Given the description of an element on the screen output the (x, y) to click on. 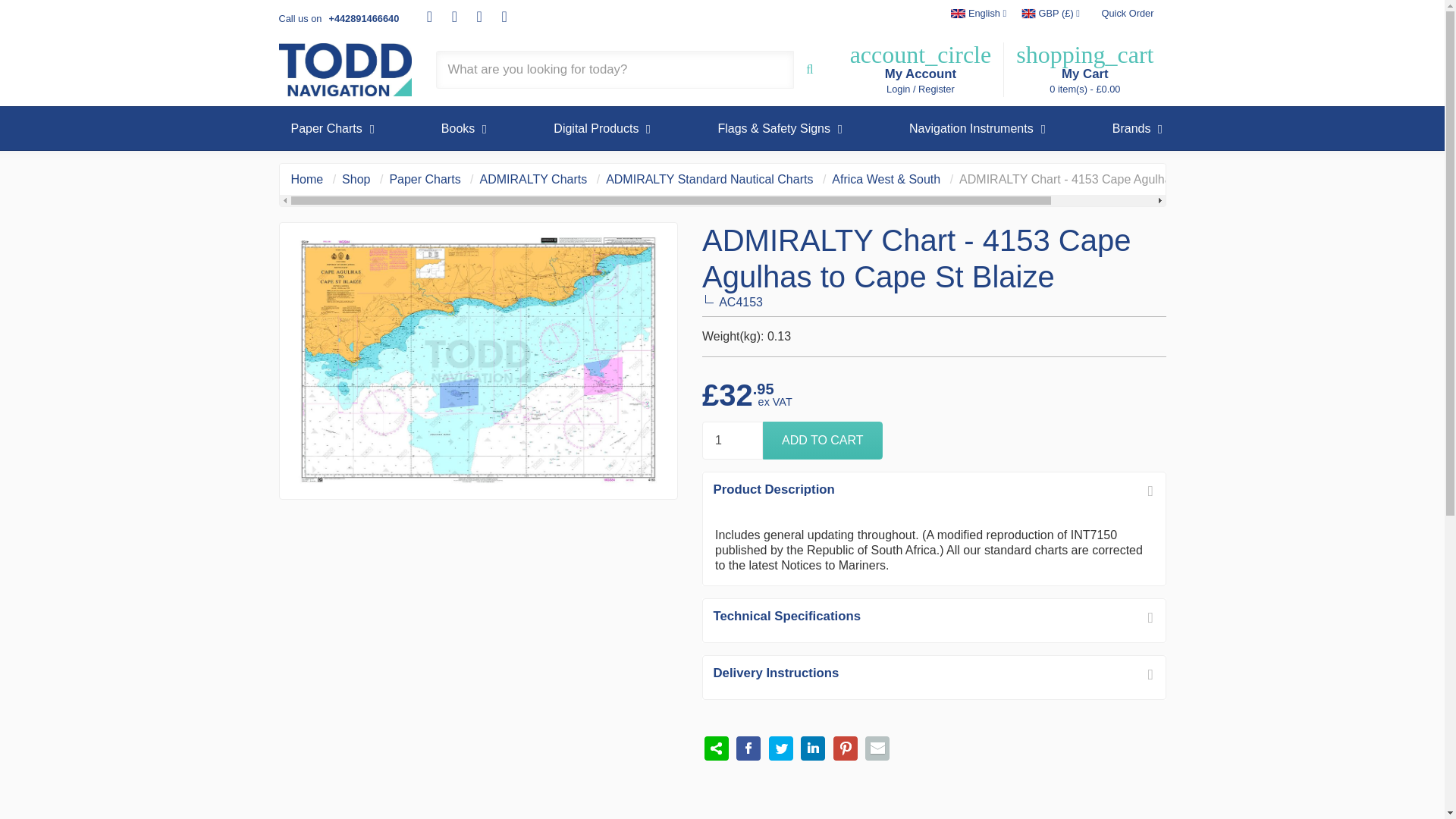
AC4153 (822, 440)
Quantity input (731, 440)
1 (731, 440)
